Given the description of an element on the screen output the (x, y) to click on. 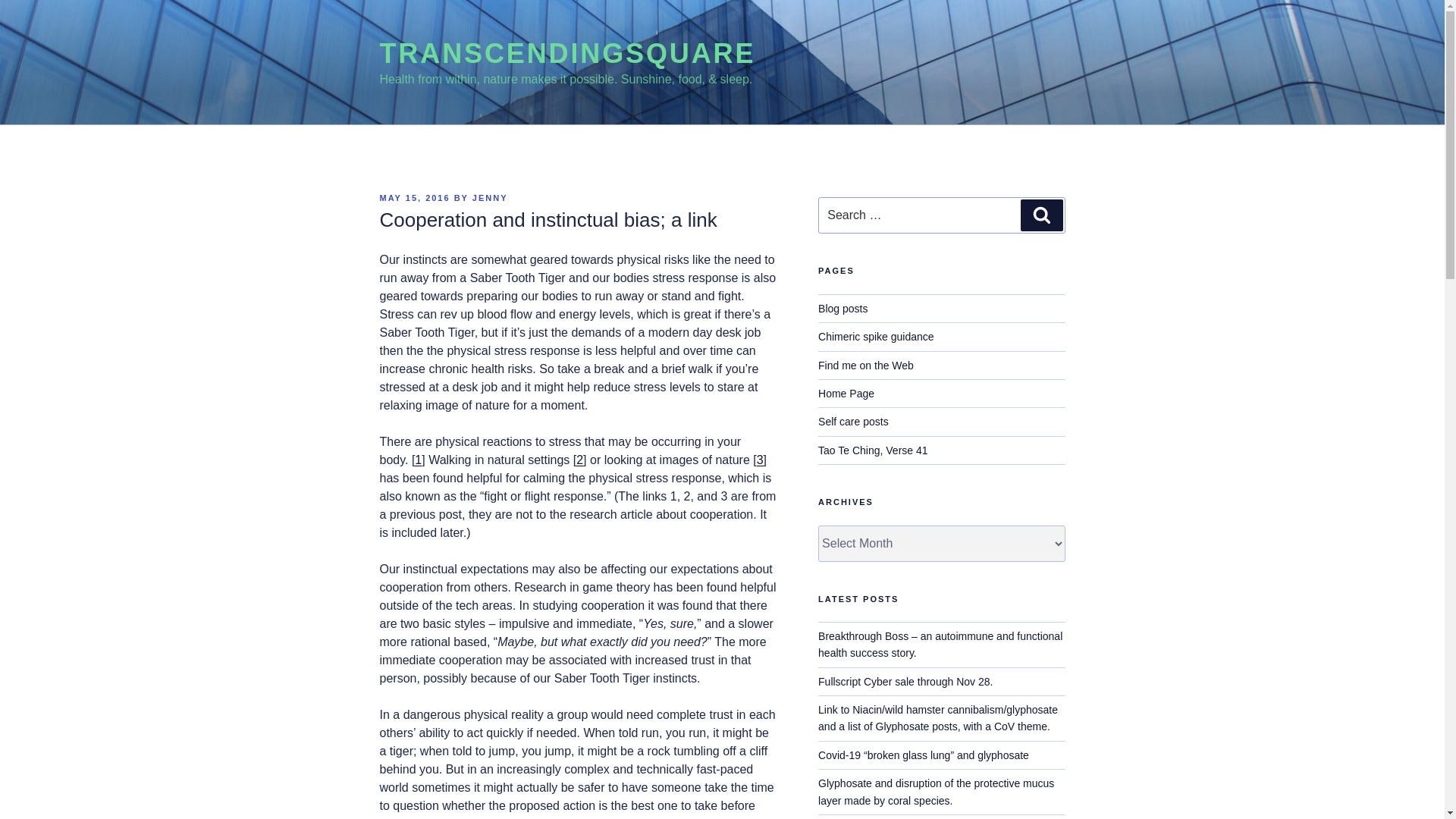
MAY 15, 2016 (413, 197)
Find me on the Web (866, 365)
Home Page (846, 393)
1 (418, 459)
Fullscript Cyber sale through Nov 28. (905, 681)
Blog posts (842, 308)
Tao Te Ching, Verse 41 (873, 450)
2 (579, 459)
Self care posts (853, 421)
Search (1041, 214)
3 (759, 459)
Chimeric spike guidance (876, 336)
JENNY (489, 197)
TRANSCENDINGSQUARE (566, 52)
